Given the description of an element on the screen output the (x, y) to click on. 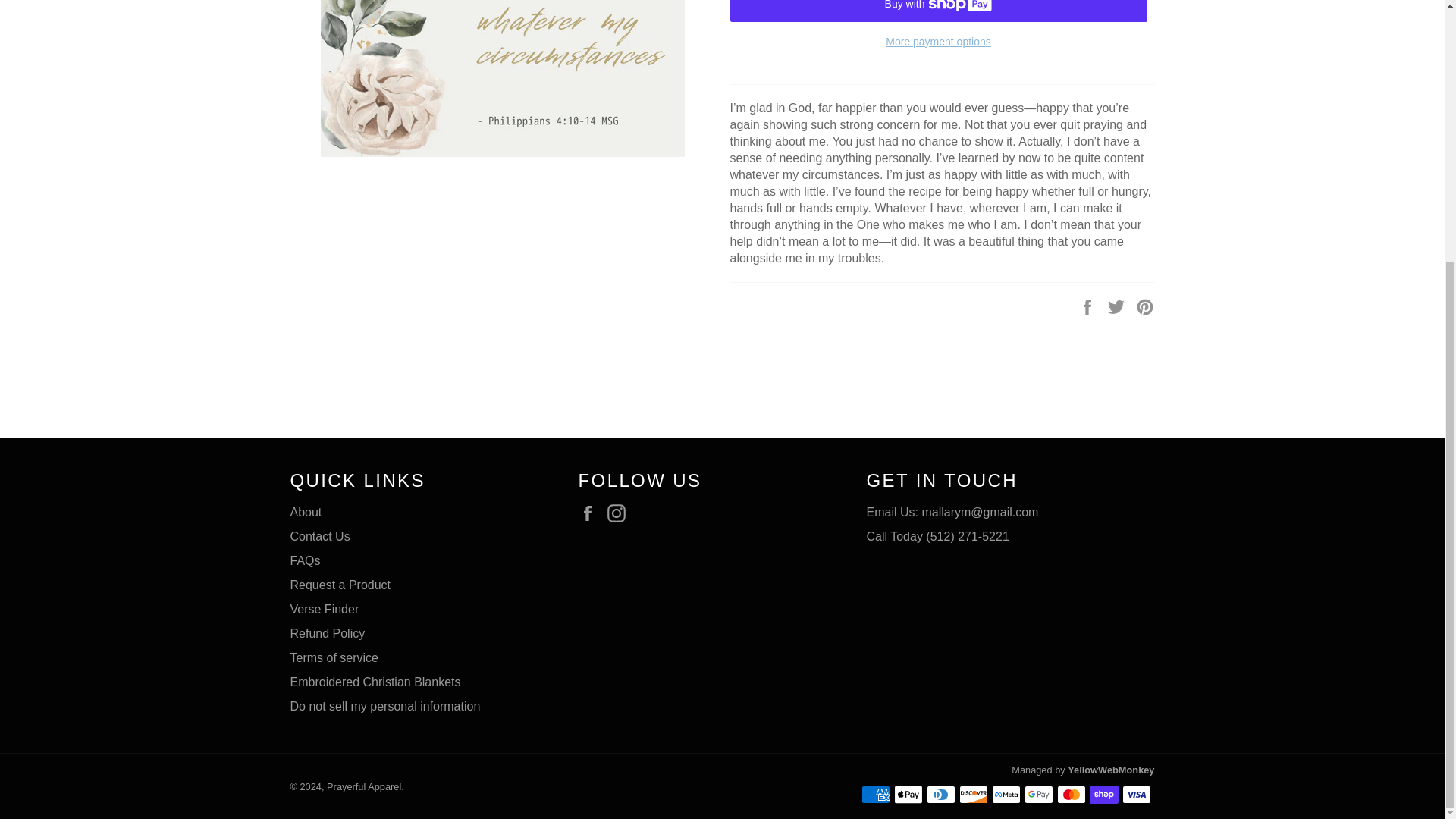
Tweet on Twitter (1117, 305)
Pin on Pinterest (1144, 305)
Prayerful Apparel on Facebook (591, 513)
Share on Facebook (1088, 305)
Prayerful Apparel on Instagram (620, 513)
tel:15122715221 (937, 535)
